Given the description of an element on the screen output the (x, y) to click on. 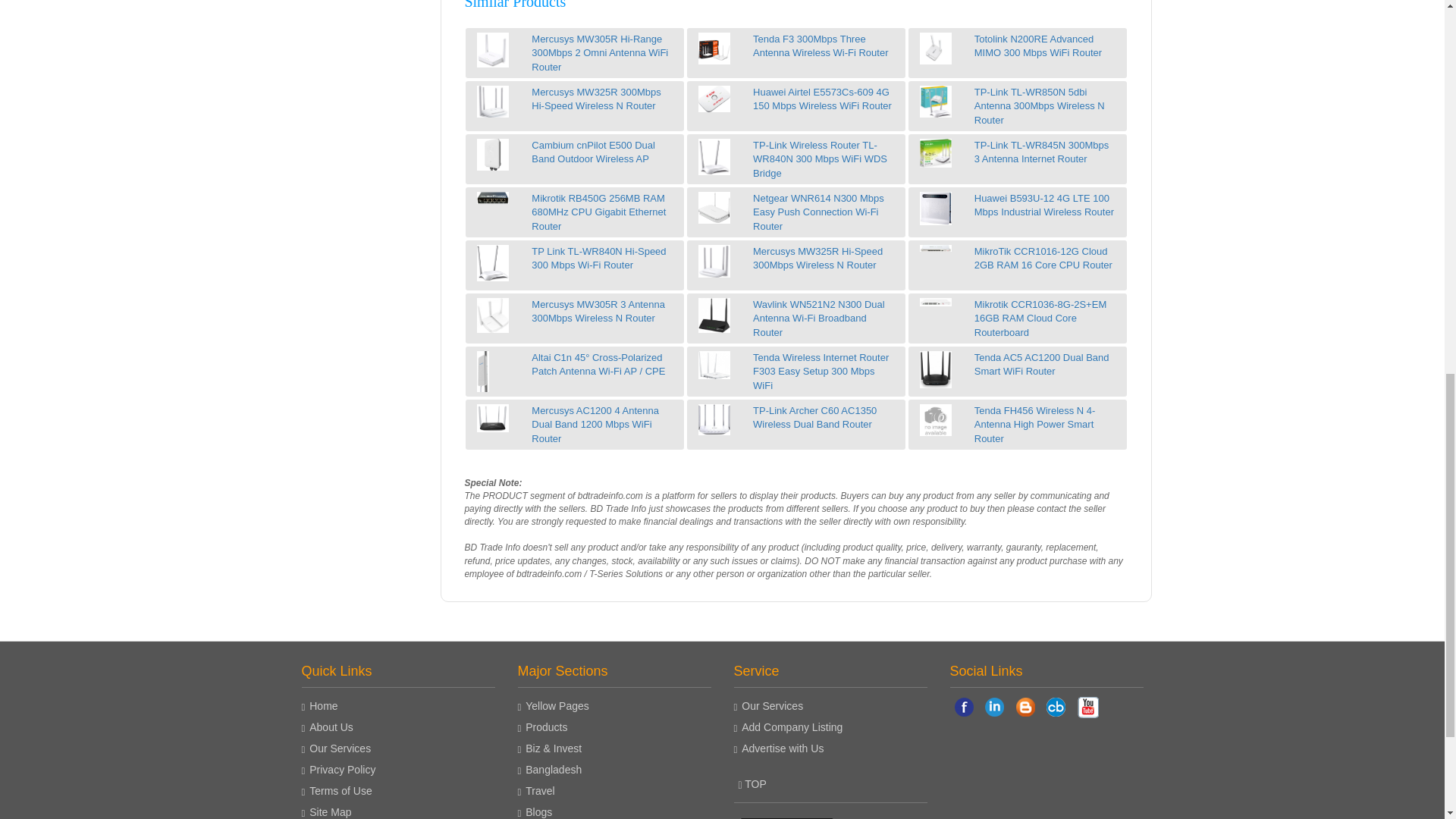
Netgear WNR614 N300 Mbps Easy Push Connection Wi-Fi Router (714, 207)
Mercusys MW325R 300Mbps Hi-Speed Wireless N Router (492, 101)
TP-Link TL-WR850N 5dbi Antenna 300Mbps Wireless N Router (936, 101)
Cambium cnPilot E500 Dual Band Outdoor Wireless AP (492, 154)
Huawei Airtel E5573Cs-609 4G 150 Mbps Wireless WiFi Router (714, 98)
Mercusys MW305R 3 Antenna 300Mbps Wireless N Router (492, 315)
Mikrotik RB450G 256MB RAM 680MHz CPU Gigabit Ethernet Router (492, 197)
Mercusys MW305R Hi-Range 300Mbps 2 Omni Antenna WiFi Router (492, 49)
Tenda F3 300Mbps Three Antenna Wireless Wi-Fi Router (714, 48)
Totolink N200RE Advanced MIMO 300 Mbps WiFi Router (936, 48)
Huawei B593U-12 4G LTE 100 Mbps Industrial Wireless Router (936, 208)
Wavlink WN521N2 N300 Dual Antenna Wi-Fi Broadband Router (714, 315)
Mercusys MW325R Hi-Speed 300Mbps Wireless N Router (714, 260)
TP-Link TL-WR845N 300Mbps 3 Antenna Internet Router (936, 152)
MikroTik CCR1016-12G Cloud 2GB RAM 16 Core CPU Router (936, 248)
